Given the description of an element on the screen output the (x, y) to click on. 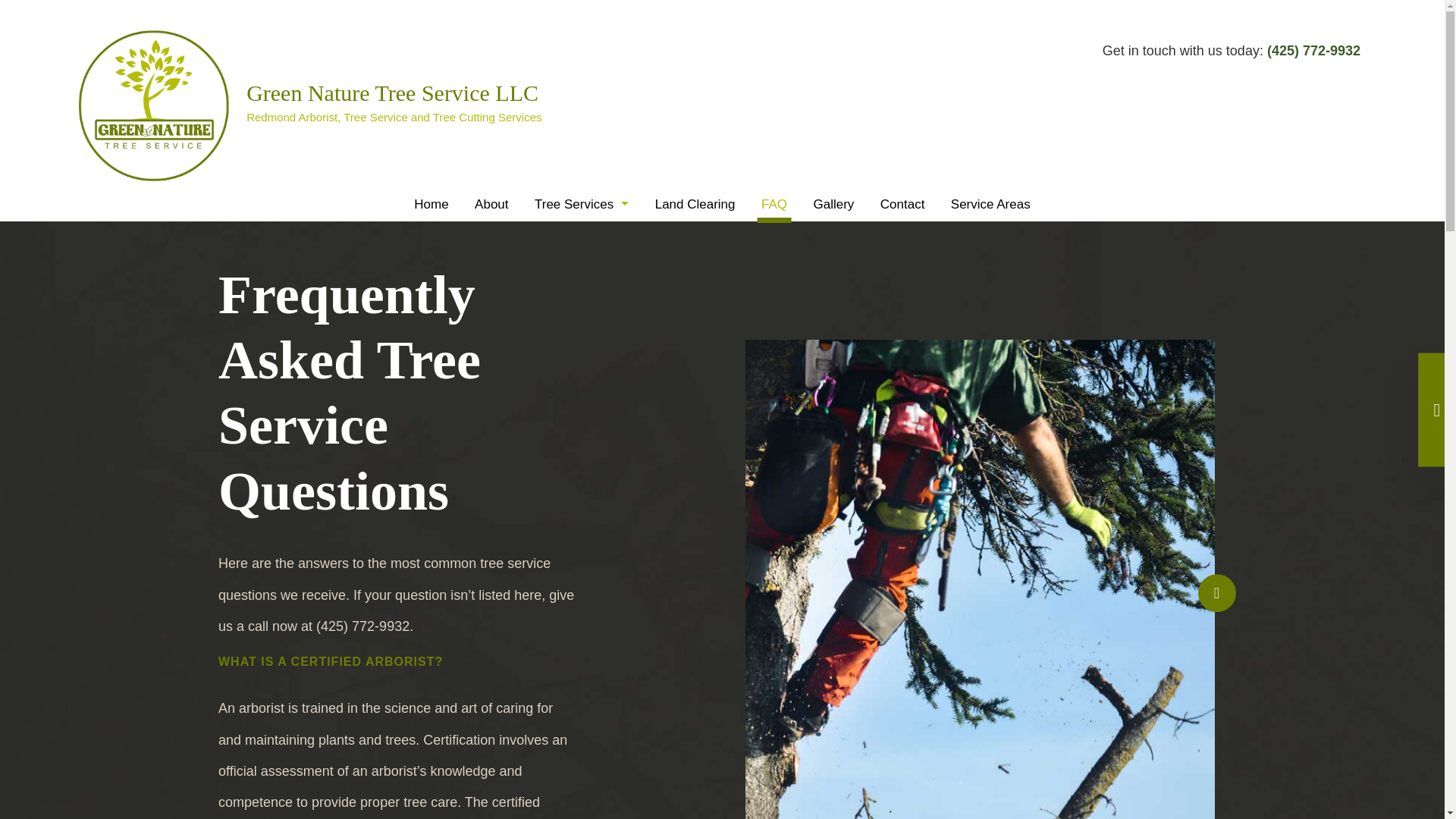
About (491, 203)
Tree Removal (581, 507)
Tree Cabling (581, 370)
Arborist (581, 234)
Green Nature Tree Service LLC Home Page (392, 92)
Stump Grinding (581, 302)
Tree Health (581, 405)
Tree Pruning (581, 473)
Green Nature Tree Service LLC (392, 92)
Emergency Tree Removal (581, 268)
